Given the description of an element on the screen output the (x, y) to click on. 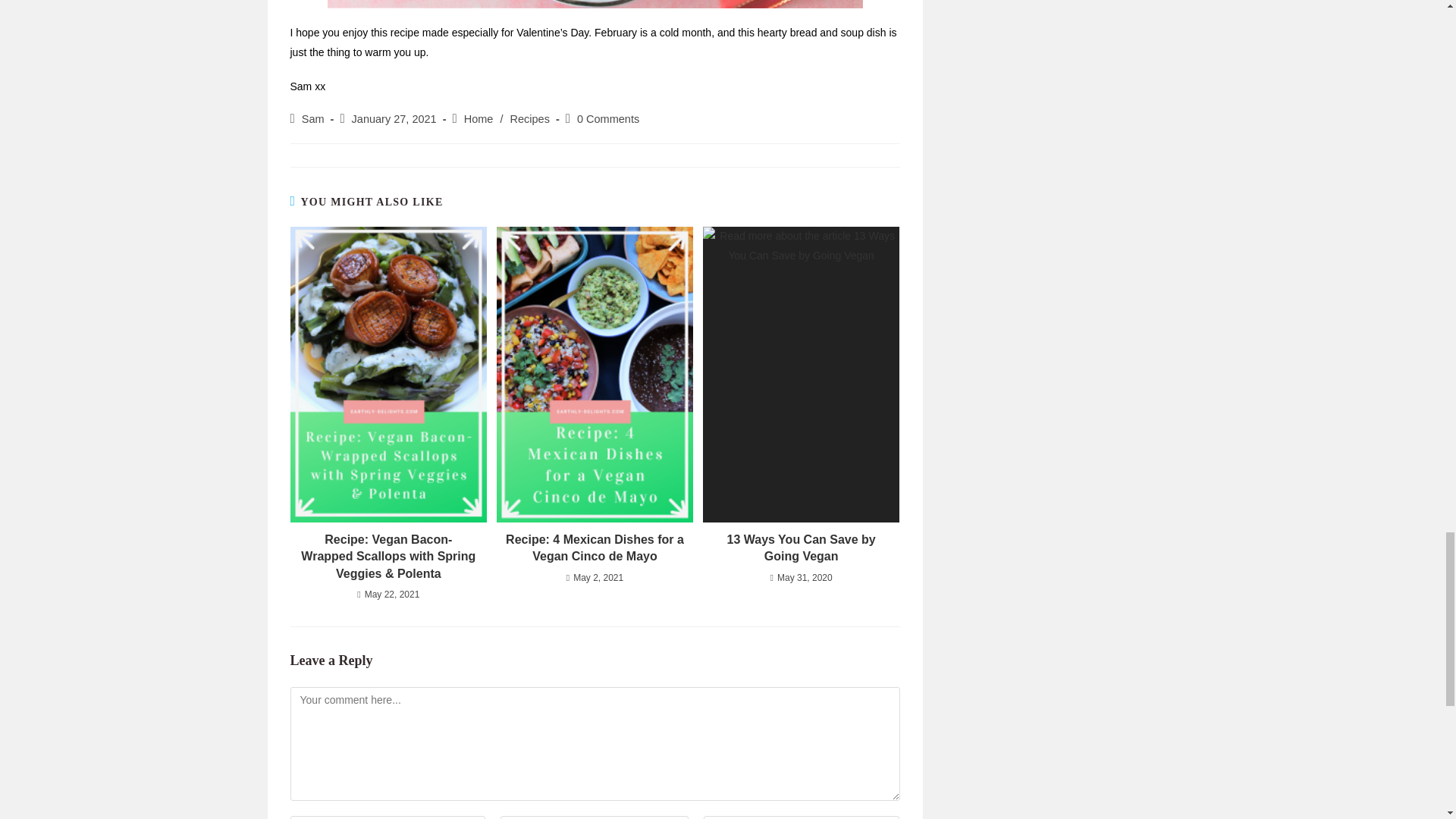
13 Ways You Can Save by Going Vegan (801, 548)
Recipe: 4 Mexican Dishes for a Vegan Cinco de Mayo (594, 548)
Sam (312, 119)
Home (478, 119)
Recipes (530, 119)
Posts by Sam (312, 119)
0 Comments (607, 119)
